Given the description of an element on the screen output the (x, y) to click on. 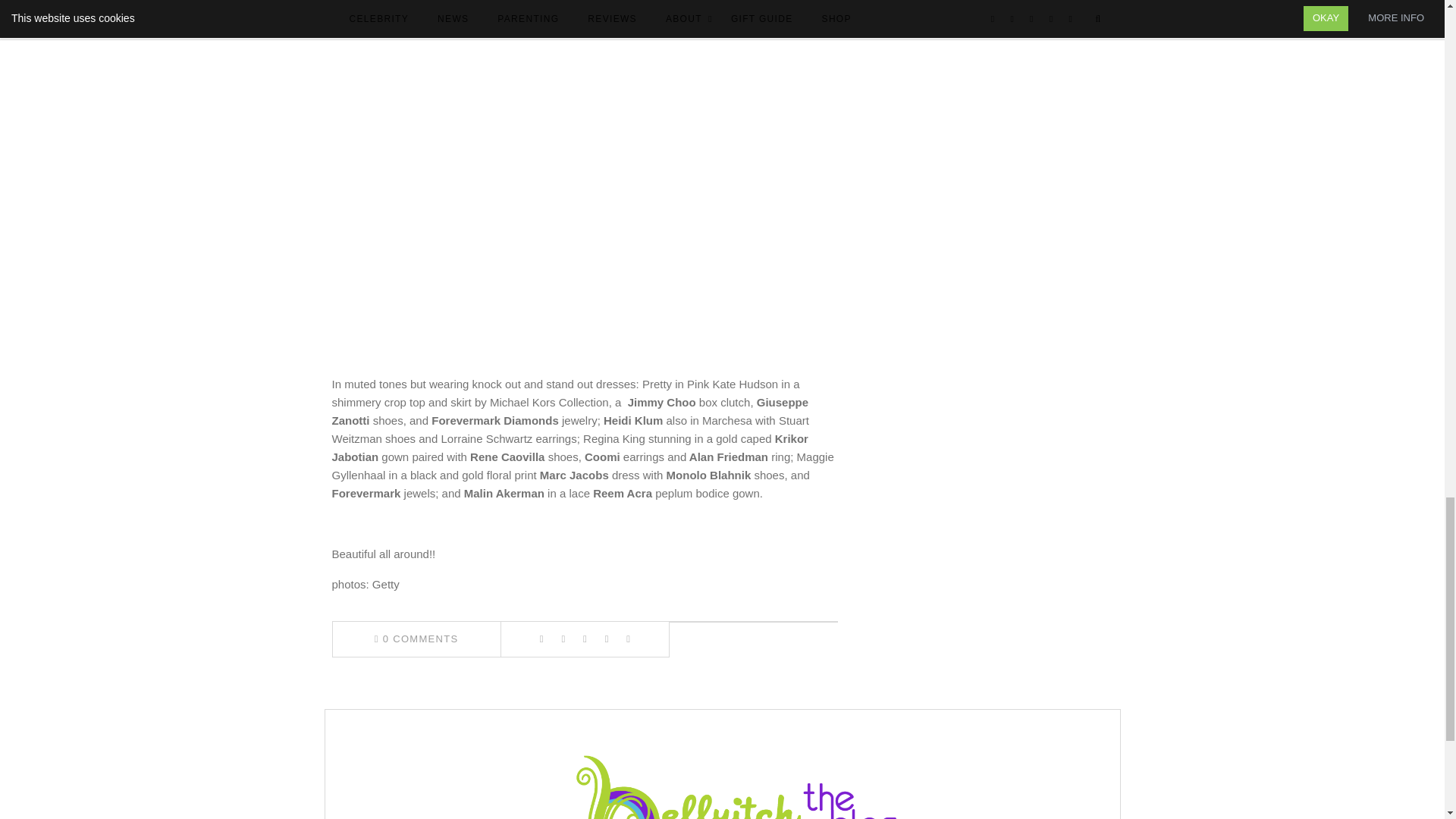
Pinterest (584, 638)
0 COMMENTS (416, 638)
Facebook (541, 638)
Twitter (562, 638)
LinkedIn (605, 638)
